Given the description of an element on the screen output the (x, y) to click on. 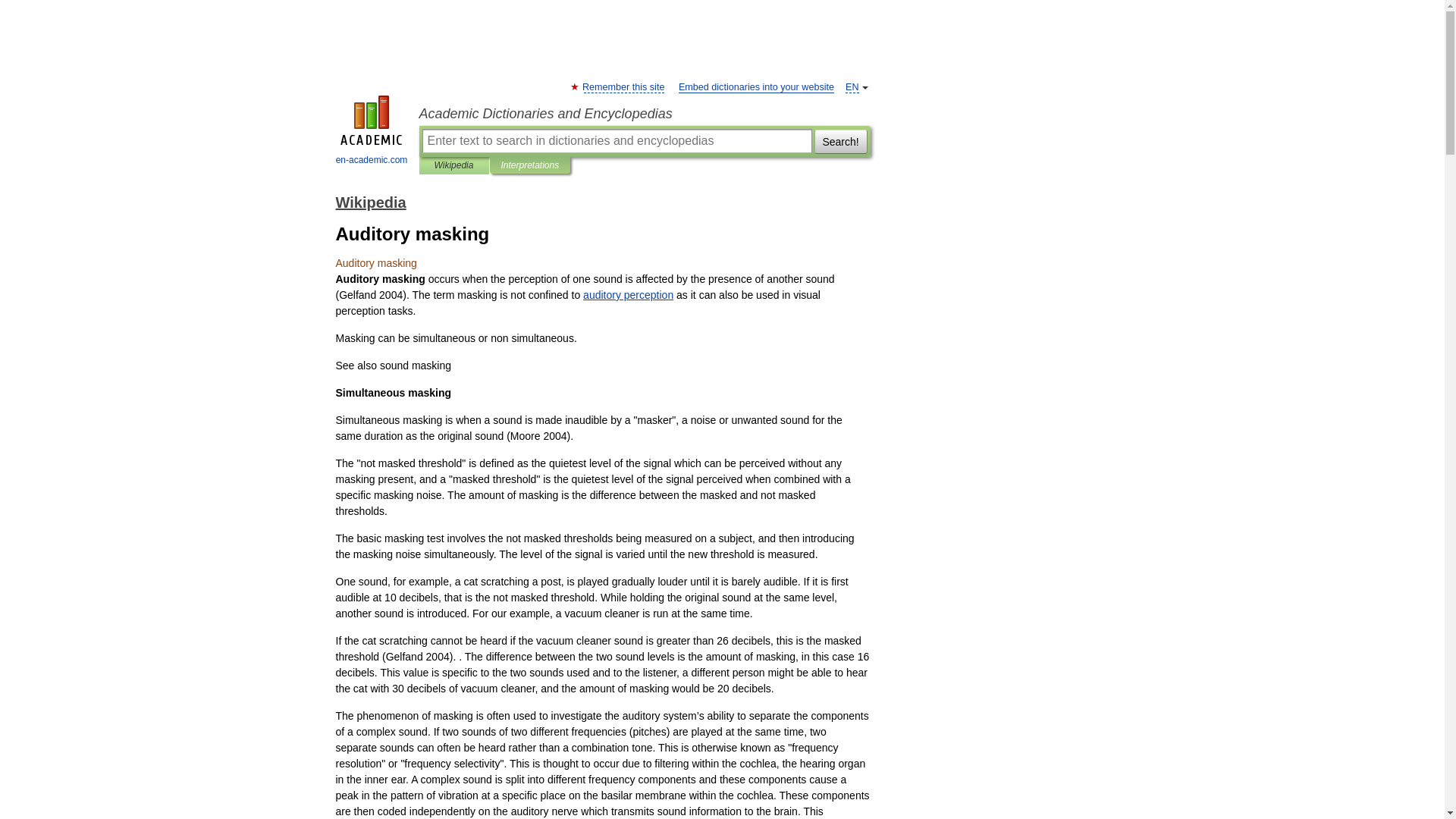
Embed dictionaries into your website (756, 87)
en-academic.com (371, 131)
Enter text to search in dictionaries and encyclopedias (616, 140)
Academic Dictionaries and Encyclopedias (644, 114)
EN (852, 87)
Remember this site (623, 87)
Wikipedia (453, 165)
Interpretations (529, 165)
Search! (840, 140)
auditory perception (627, 295)
Wikipedia (370, 202)
